Given the description of an element on the screen output the (x, y) to click on. 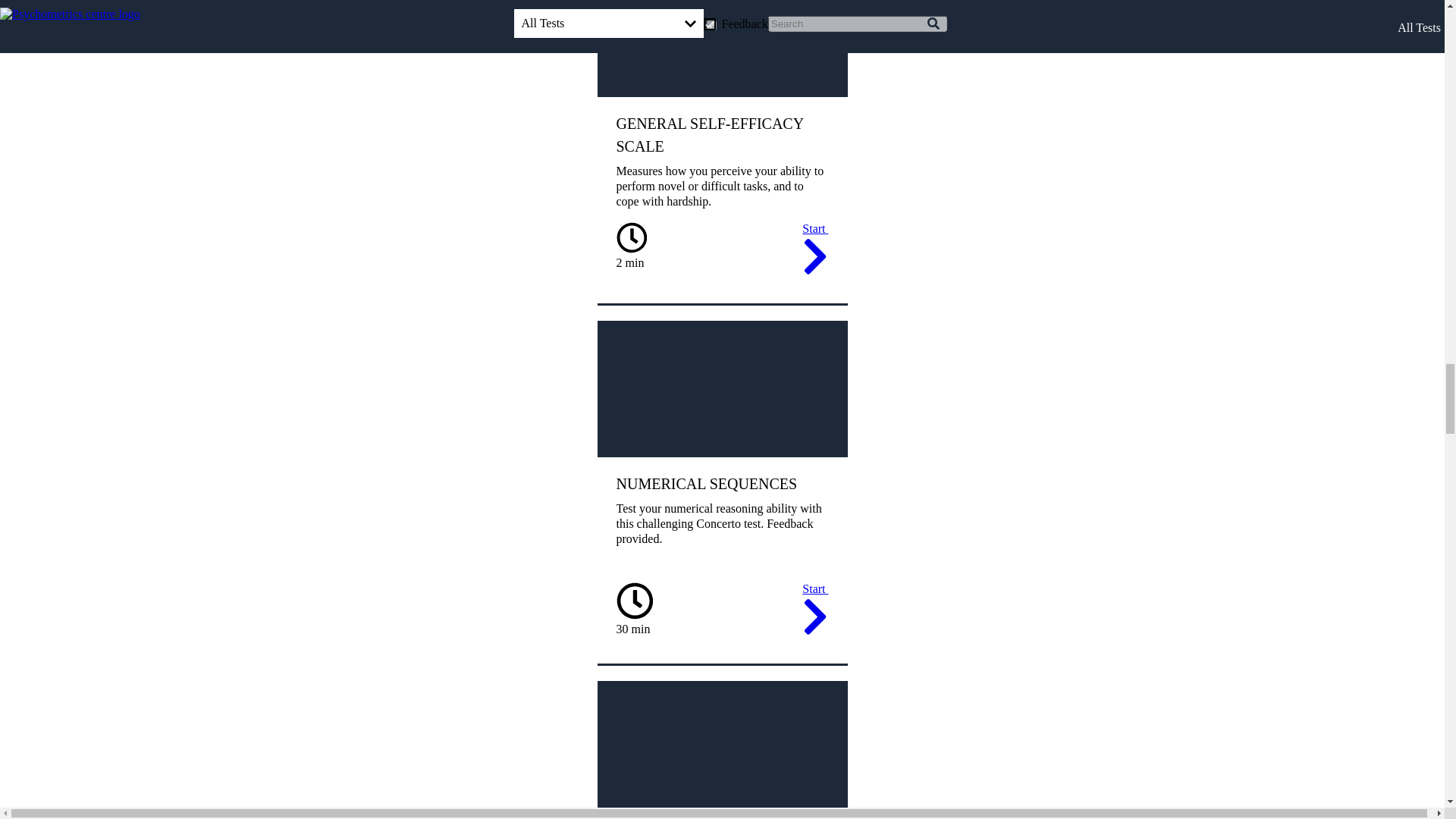
Start  (815, 250)
Start  (815, 611)
